Given the description of an element on the screen output the (x, y) to click on. 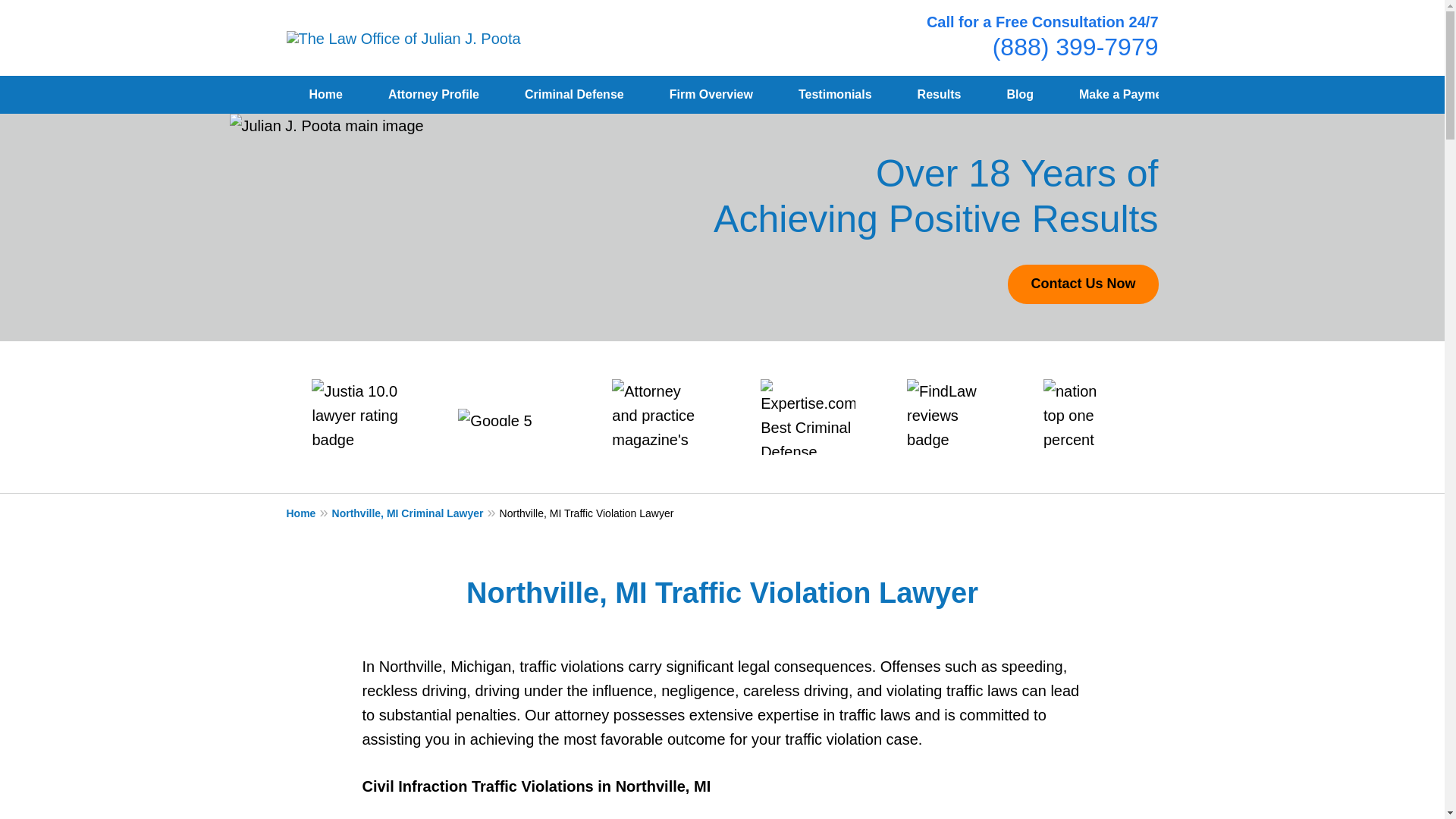
Firm Overview (711, 94)
Attorney Profile (433, 94)
Blog (1020, 94)
Contact Us (1249, 94)
Make a Payment (1126, 94)
Contact Us Now (1082, 283)
Northville, MI Criminal Lawyer (415, 513)
Results (939, 94)
Home (308, 513)
Home (325, 94)
